Given the description of an element on the screen output the (x, y) to click on. 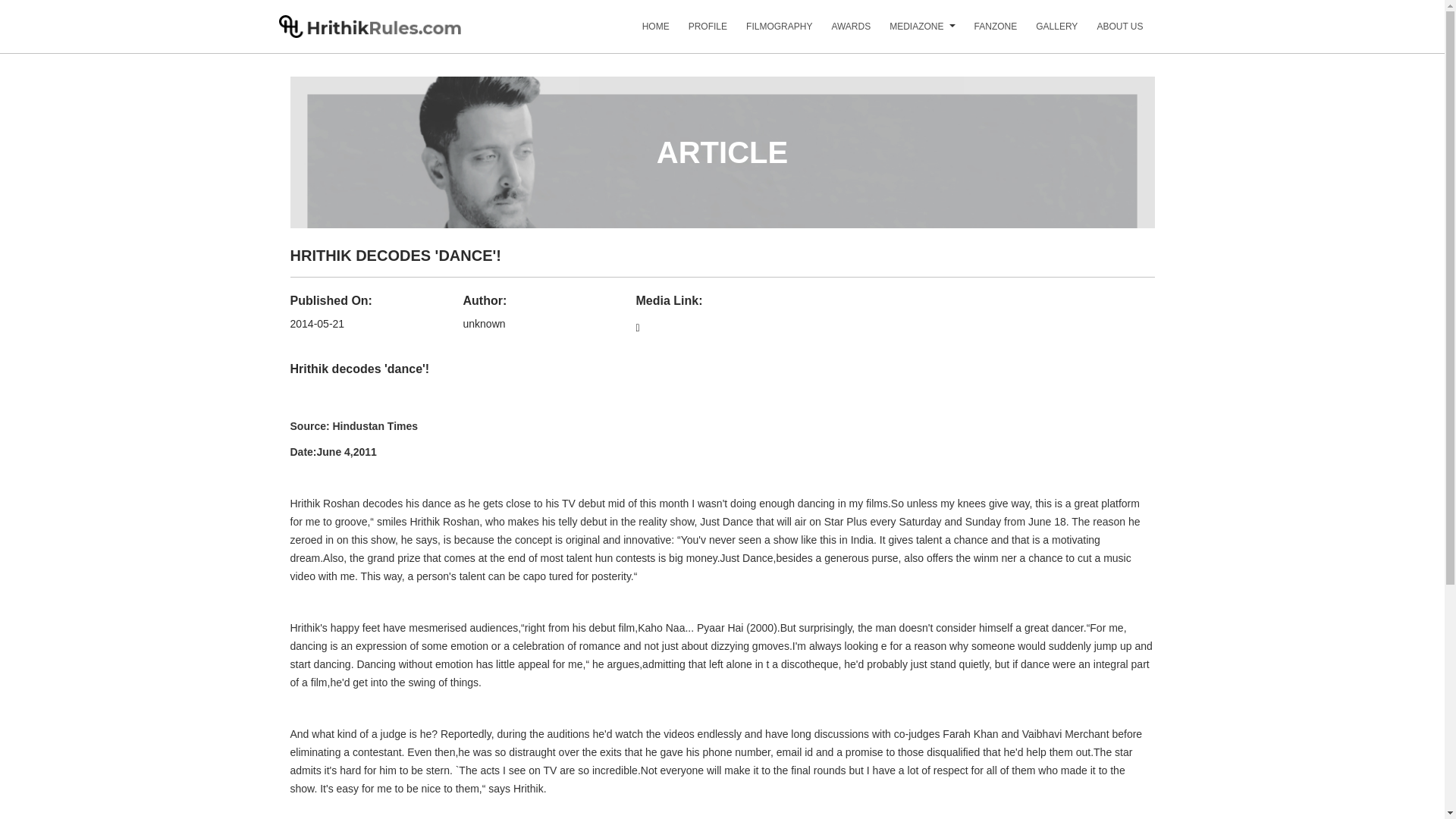
FILMOGRAPHY (769, 31)
ABOUT US (1109, 31)
FANZONE (986, 31)
PROFILE (697, 31)
AWARDS (841, 31)
HOME (646, 31)
MEDIAZONE (906, 31)
GALLERY (1046, 31)
